Given the description of an element on the screen output the (x, y) to click on. 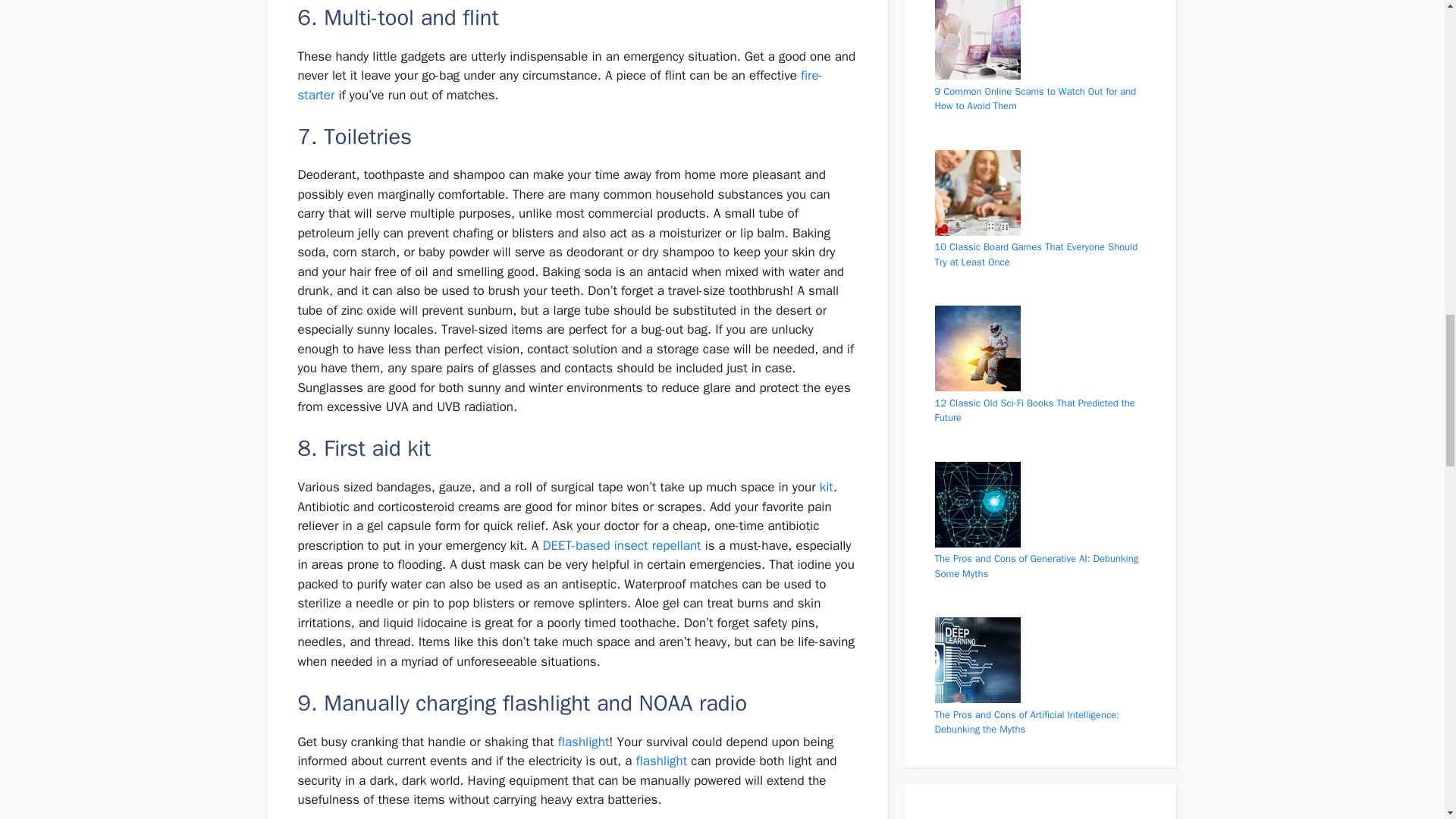
flashlight (661, 760)
DEET-based insect repellant (620, 545)
fire-starter (559, 85)
flashlight (583, 741)
